Given the description of an element on the screen output the (x, y) to click on. 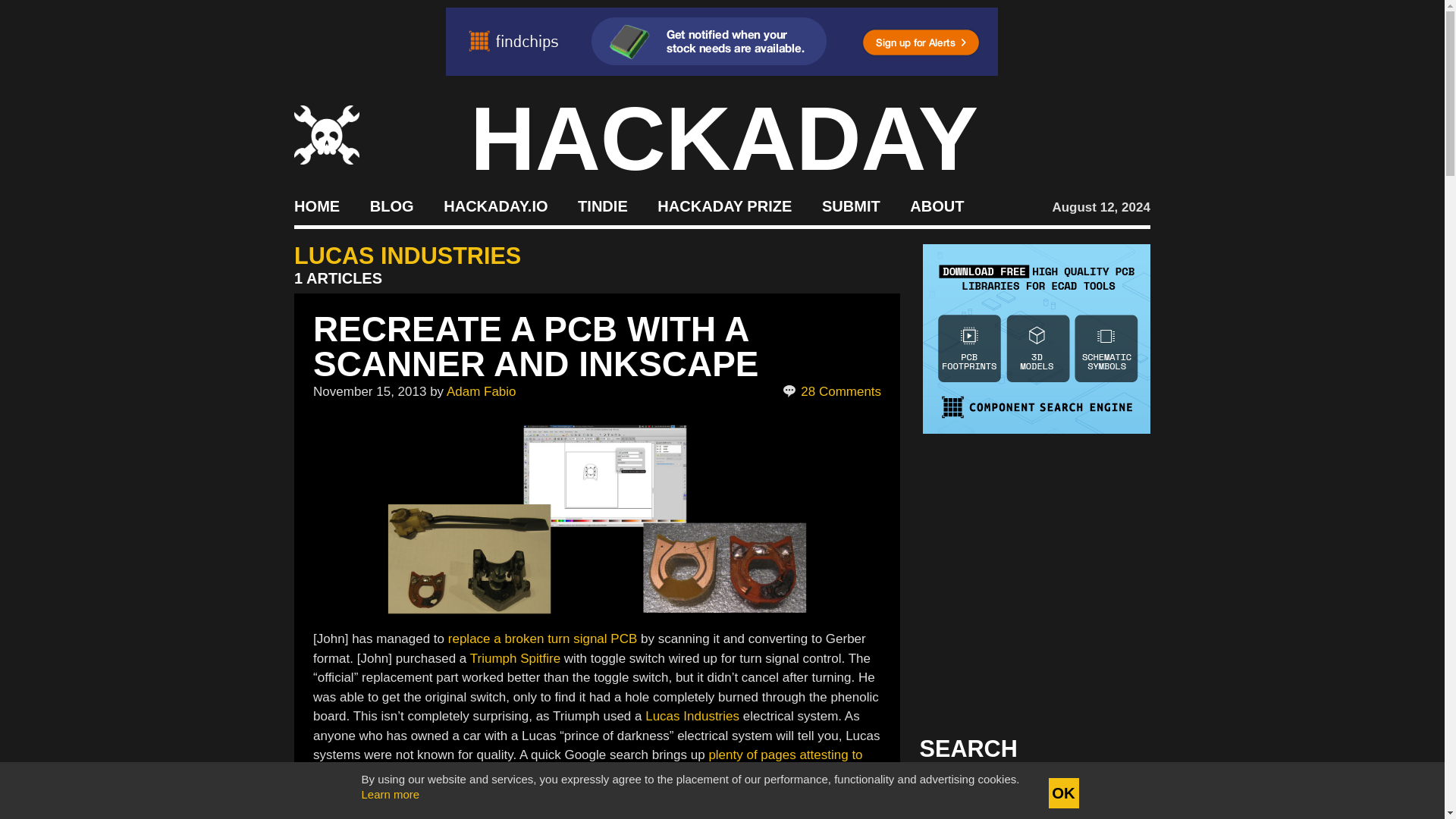
HACKADAY PRIZE (725, 205)
November 15, 2013 - 4:01 am (369, 391)
HACKADAY.IO (495, 205)
November 15, 2013 (369, 391)
plenty of pages attesting to this (587, 764)
Posts by Adam Fabio (481, 391)
Adam Fabio (481, 391)
Lucas Industries (693, 716)
TINDIE (602, 205)
Search (1115, 792)
